Given the description of an element on the screen output the (x, y) to click on. 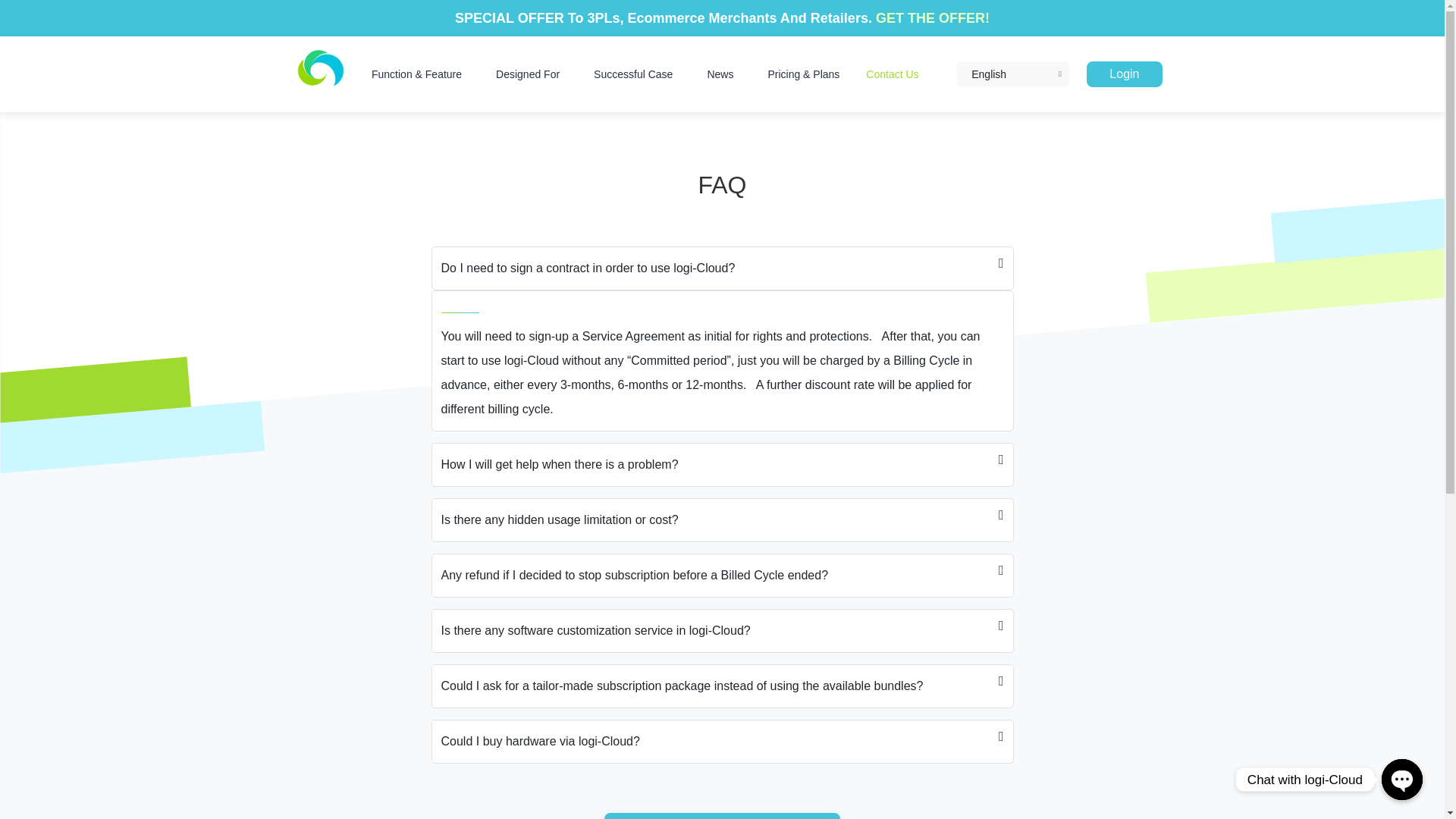
Designed For (531, 73)
Successful Case (637, 73)
GET THE OFFER! (933, 17)
News (724, 73)
Contact Us (896, 73)
